Given the description of an element on the screen output the (x, y) to click on. 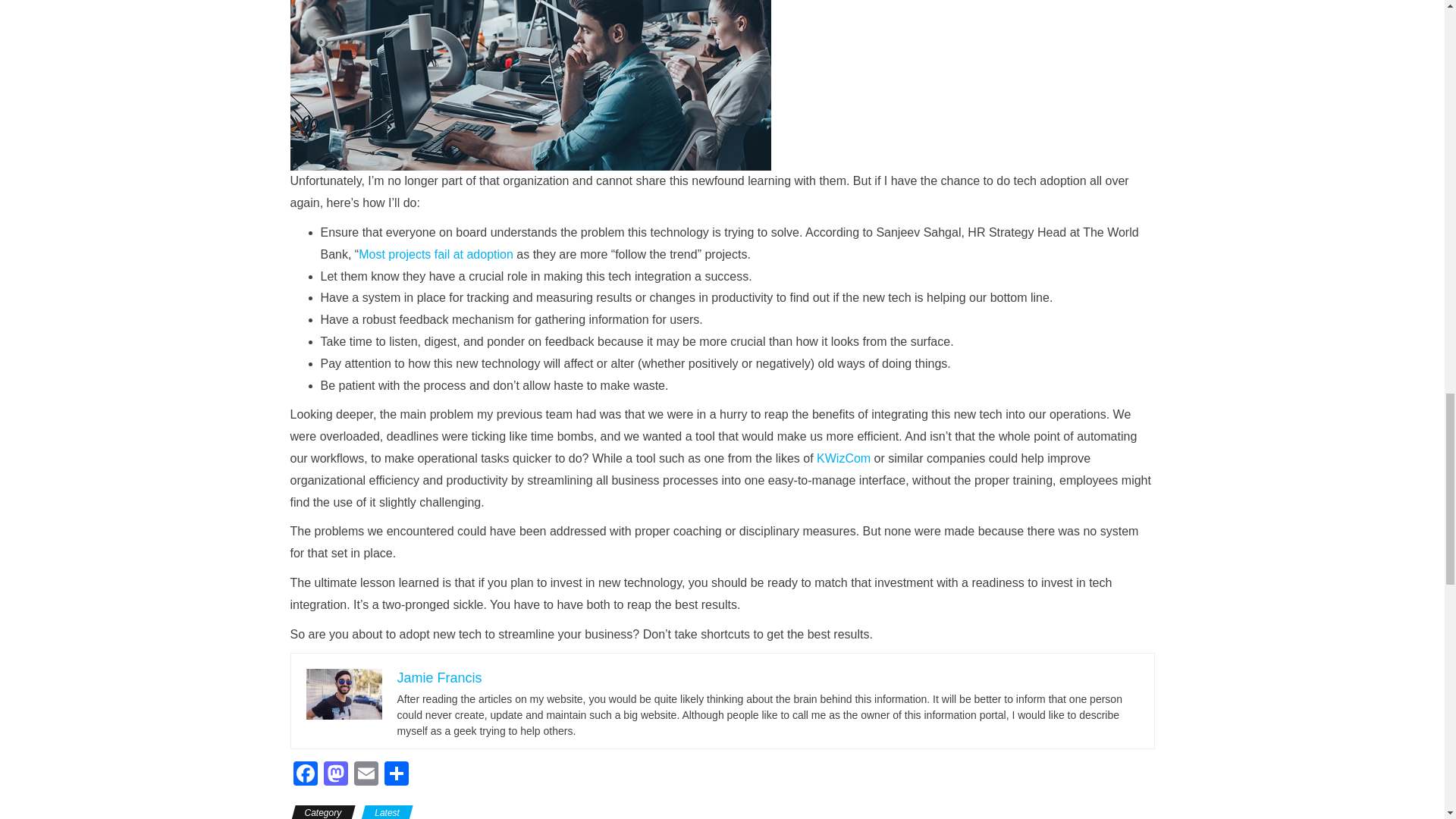
KWizCom (843, 458)
Mastodon (335, 775)
Most projects fail at adoption (435, 254)
Facebook (304, 775)
Jamie Francis (439, 677)
Latest (386, 812)
Email (365, 775)
